Given the description of an element on the screen output the (x, y) to click on. 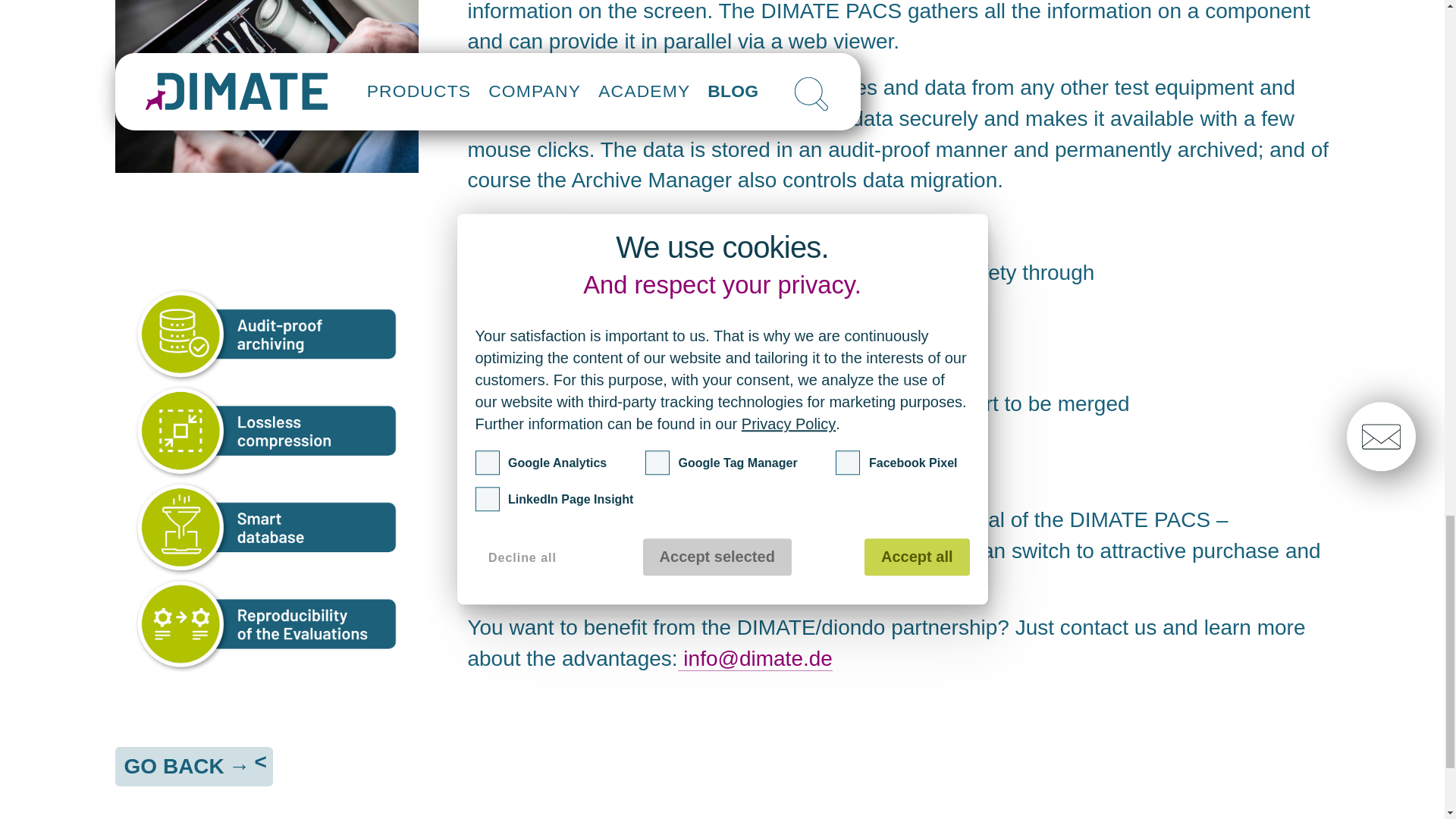
GO BACK (194, 766)
